Given the description of an element on the screen output the (x, y) to click on. 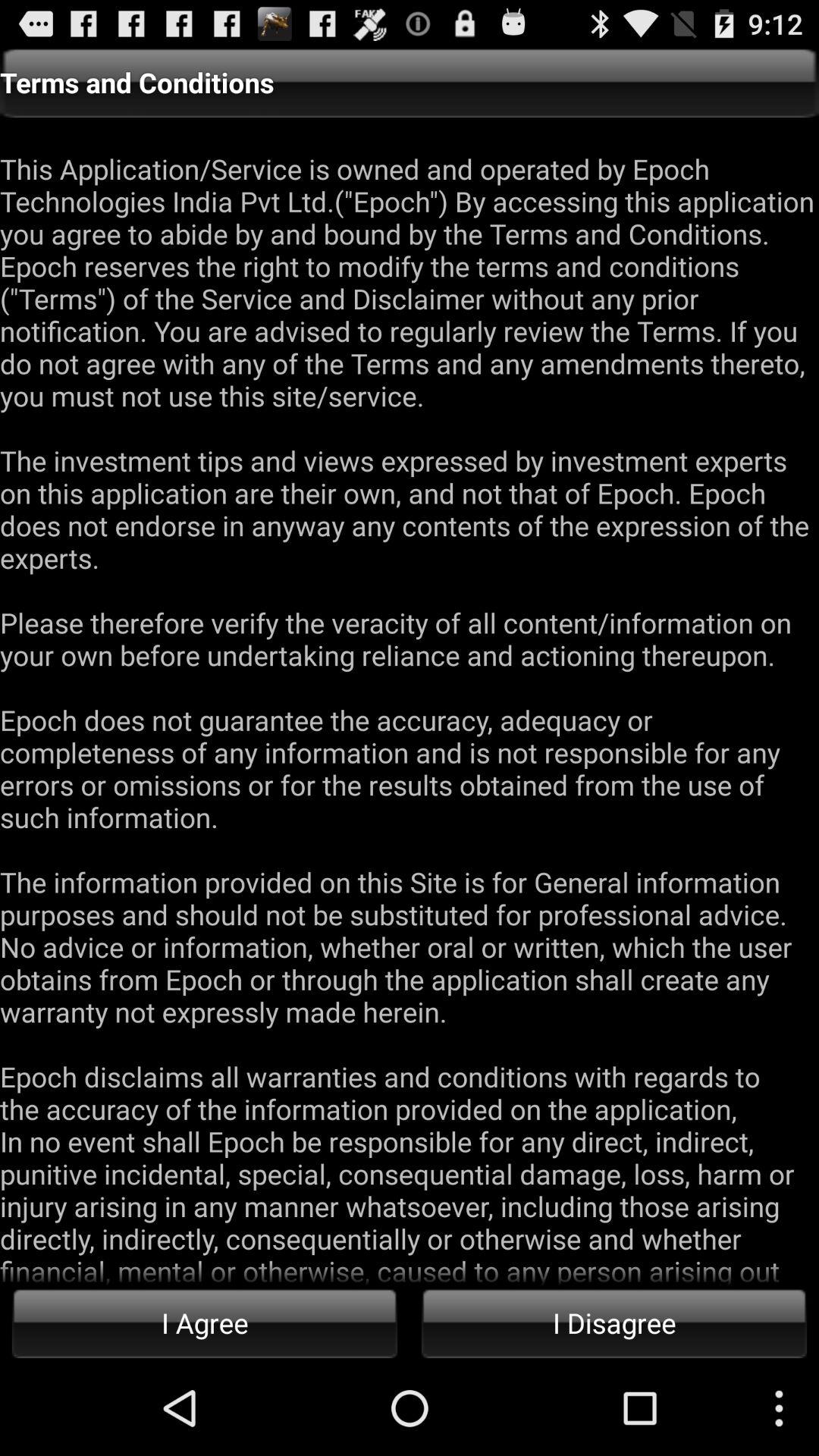
click the  i disagree  button (614, 1323)
